Given the description of an element on the screen output the (x, y) to click on. 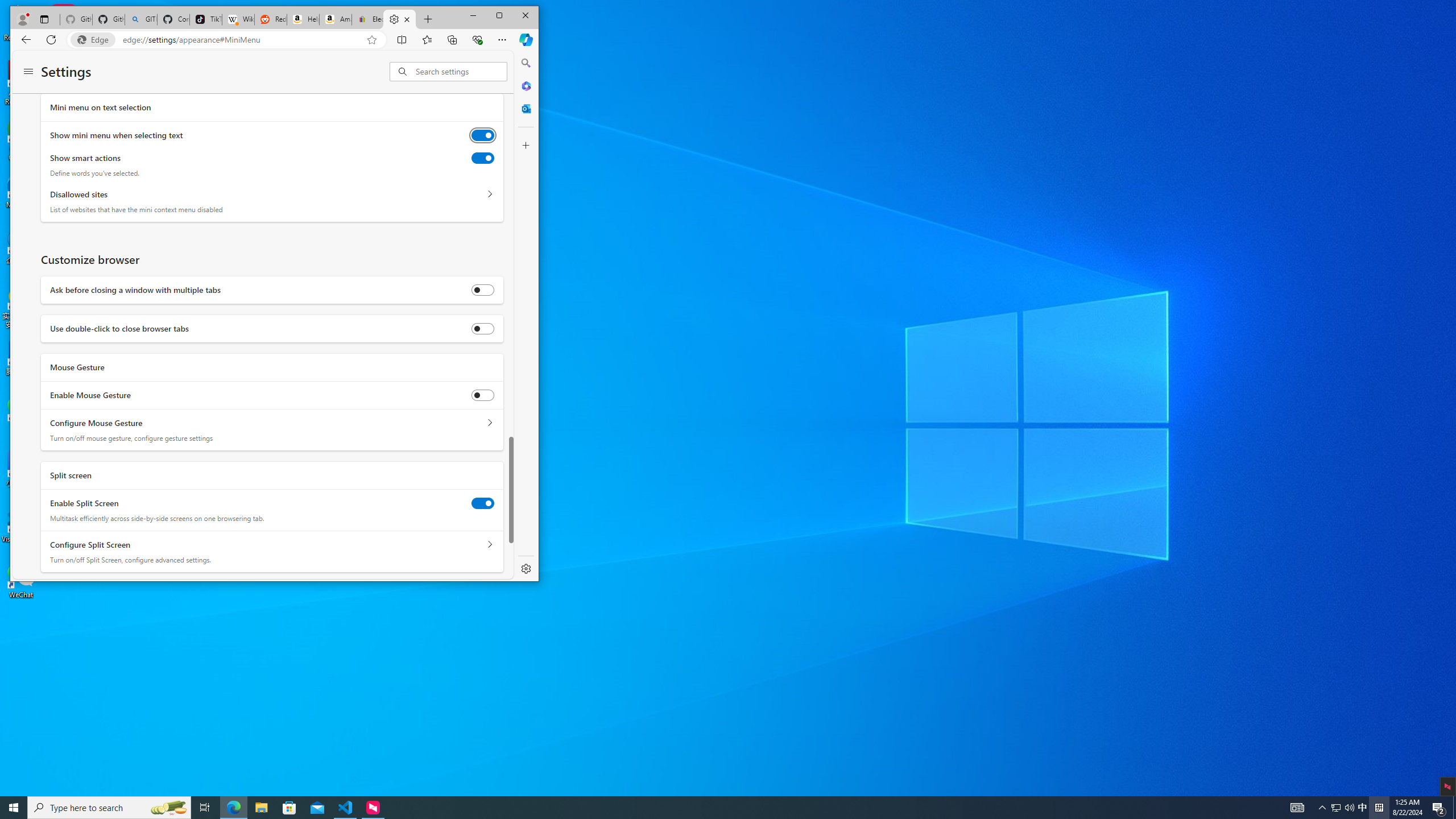
TikTok (205, 19)
Edge (94, 39)
Microsoft Edge - 1 running window (233, 807)
Electronics, Cars, Fashion, Collectibles & More | eBay (367, 19)
